Given the description of an element on the screen output the (x, y) to click on. 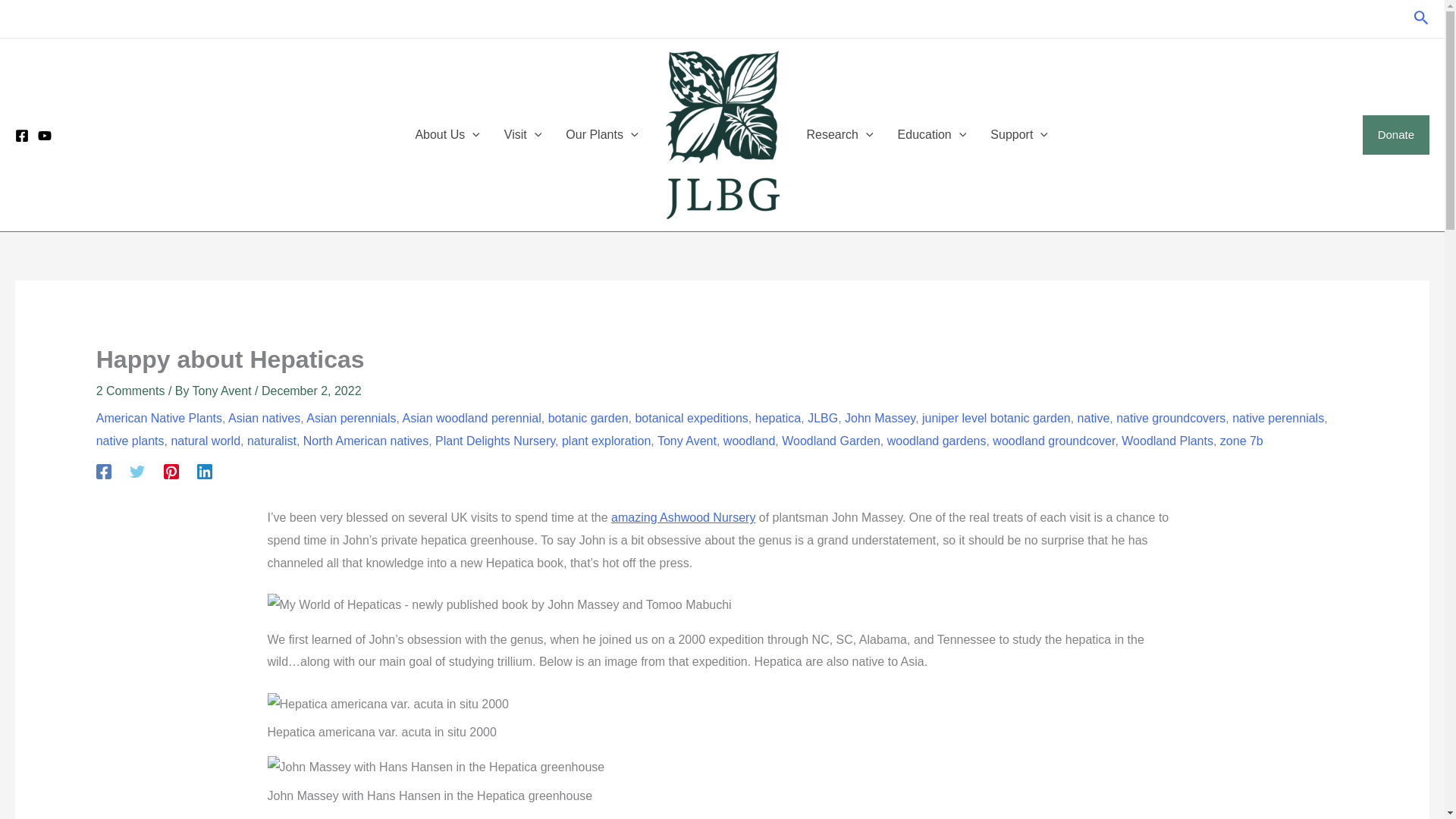
View all posts by Tony Avent (223, 390)
See my previous post for more pics of this amazing nursery (683, 517)
About Us (447, 134)
Our Plants (601, 134)
Visit (523, 134)
Research (839, 134)
